Given the description of an element on the screen output the (x, y) to click on. 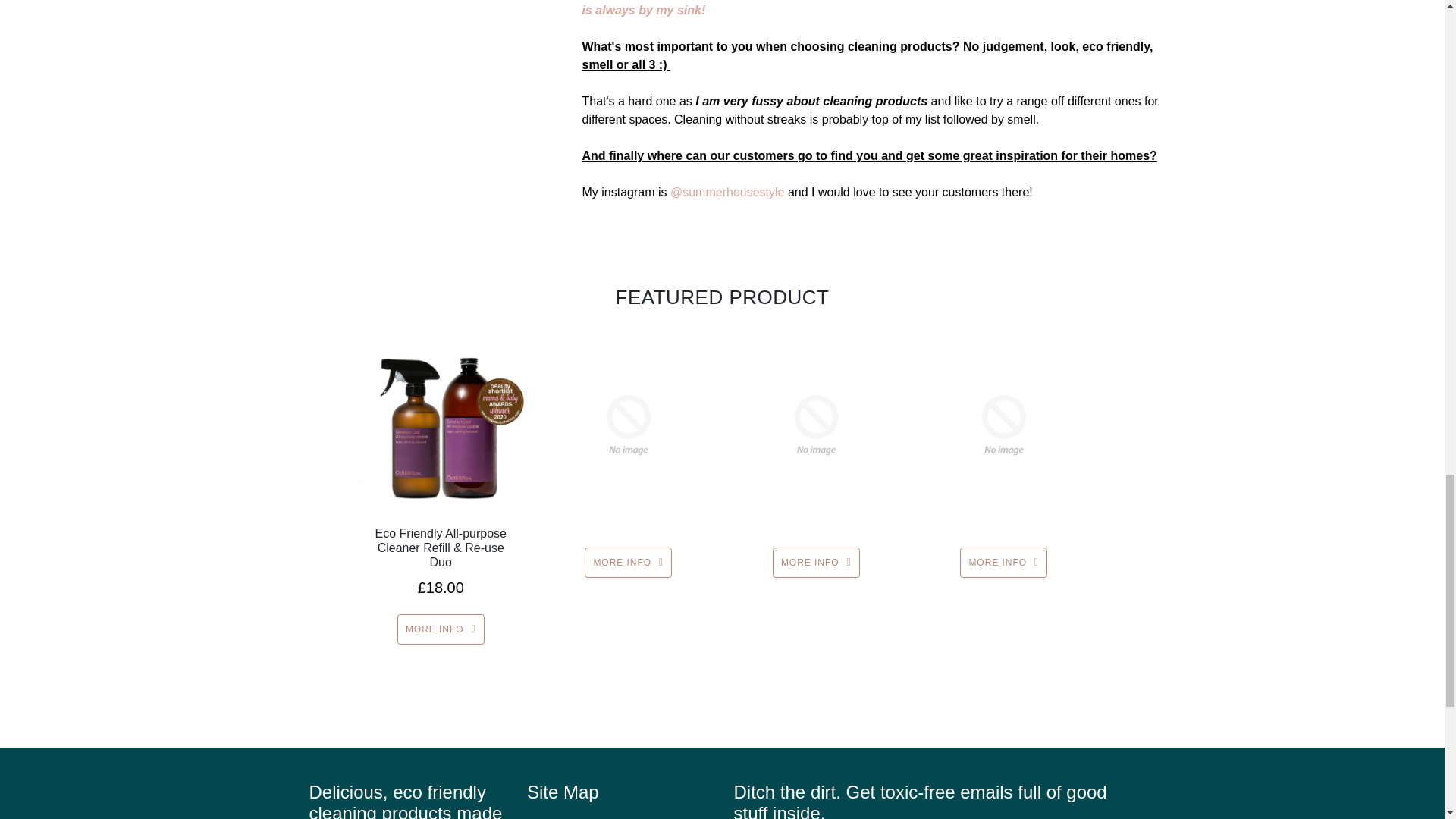
Vitoria Summer instagram - Interior Design (726, 192)
It is always by my sink! (869, 8)
